Given the description of an element on the screen output the (x, y) to click on. 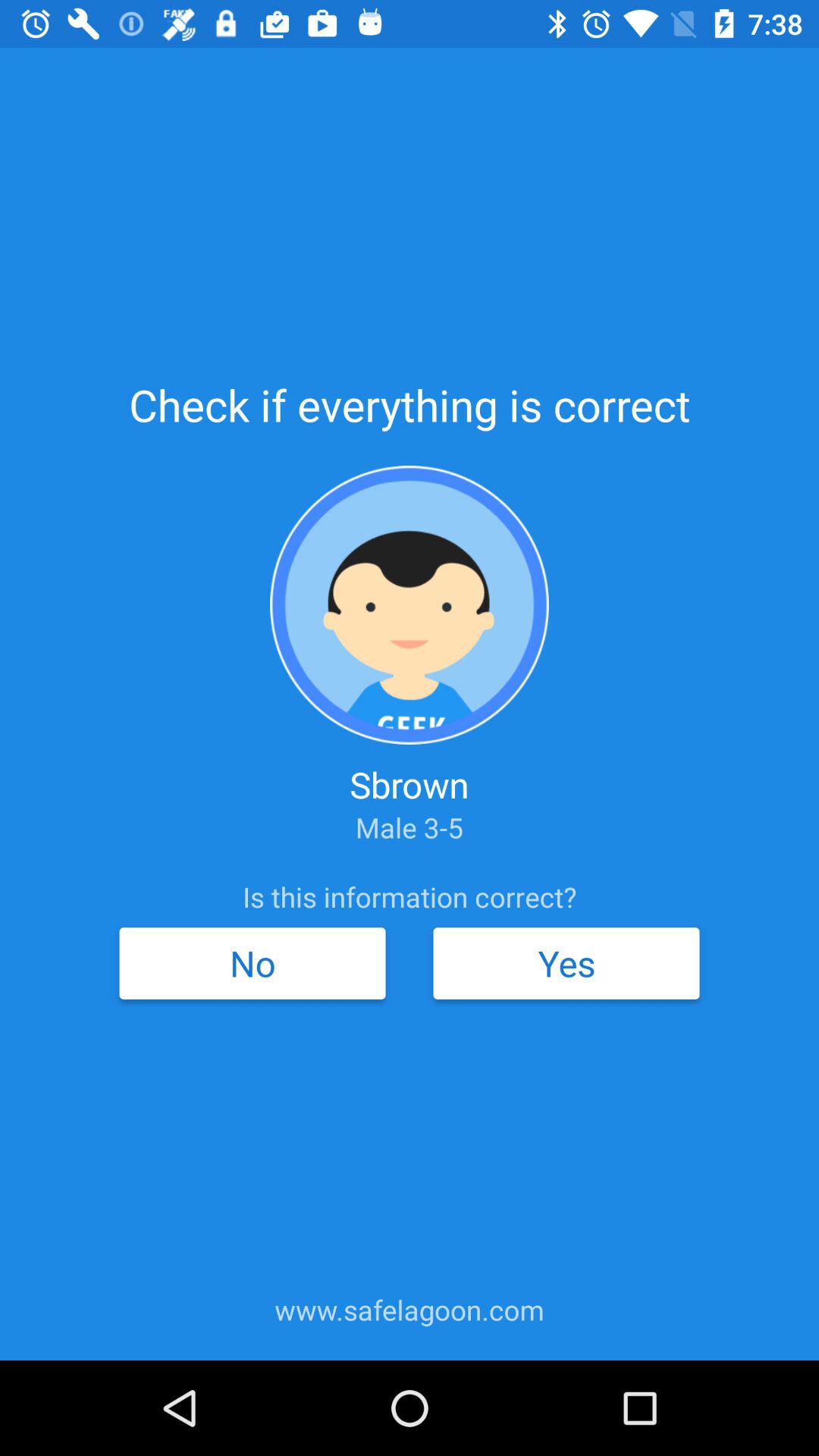
turn off no icon (252, 963)
